Given the description of an element on the screen output the (x, y) to click on. 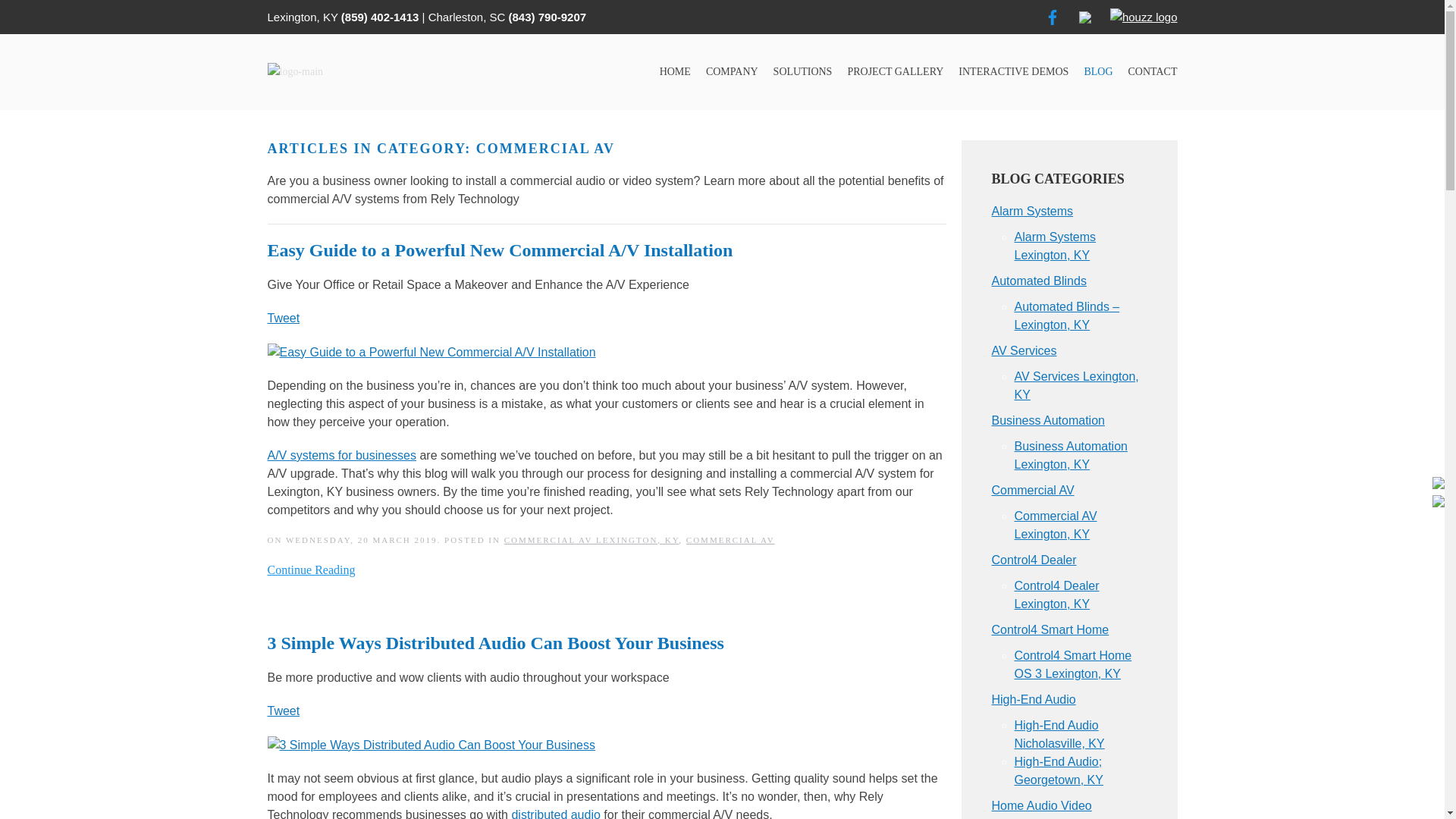
SOLUTIONS (802, 71)
INTERACTIVE DEMOS (1013, 71)
3 Simple Ways Distributed Audio Can Boost Your Business (430, 744)
PROJECT GALLERY (895, 71)
Continue Reading (310, 570)
3 Simple Ways Distributed Audio Can Boost Your Business (430, 745)
COMMERCIAL AV (729, 539)
Tweet (282, 318)
COMMERCIAL AV LEXINGTON, KY (591, 539)
3 Simple Ways Distributed Audio Can Boost Your Business (494, 642)
